Given the description of an element on the screen output the (x, y) to click on. 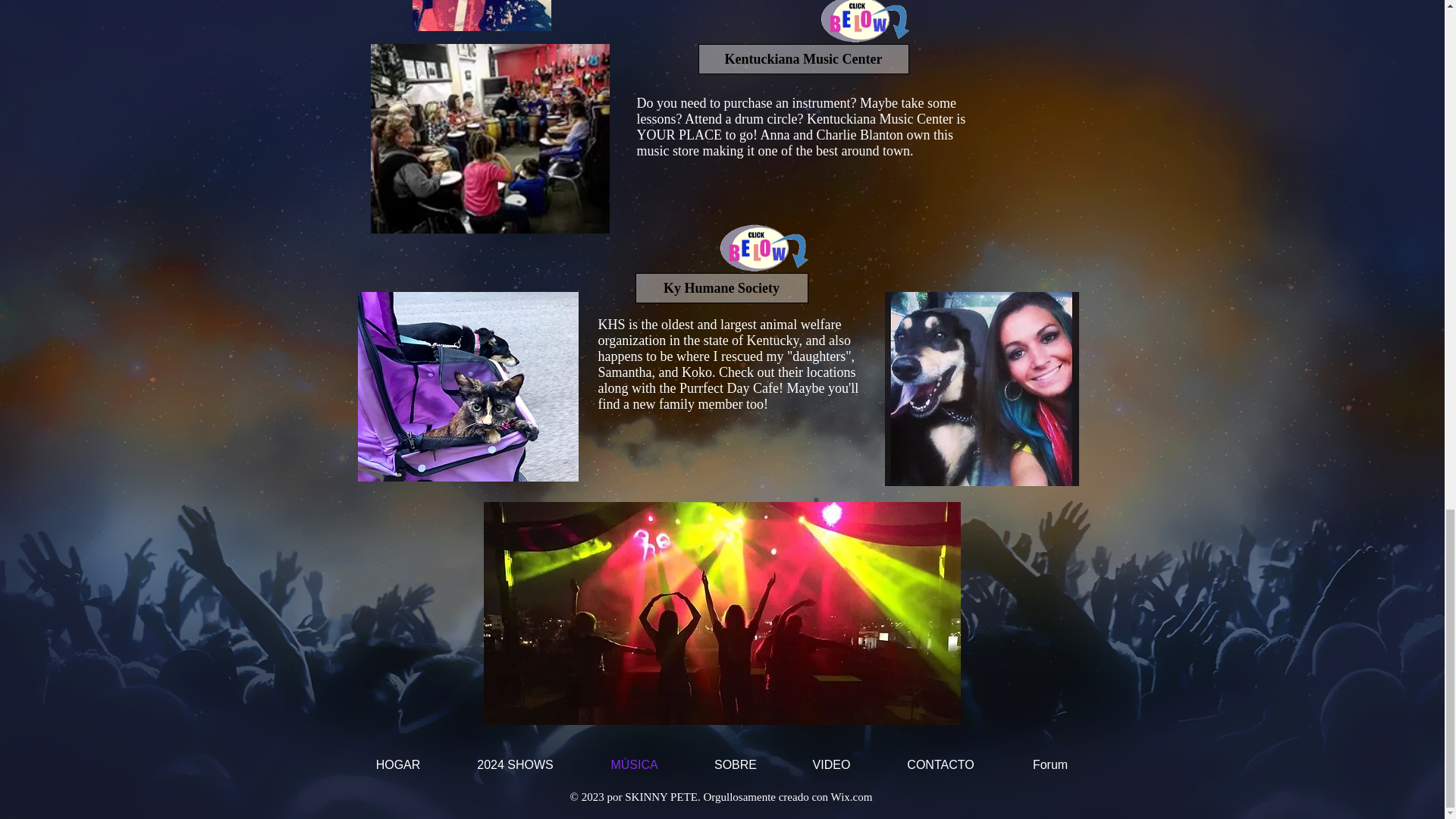
VIDEO (830, 764)
SOBRE (735, 764)
2024 SHOWS (515, 764)
Kentuckiana Music Center (802, 59)
HOGAR (397, 764)
Ky Humane Society (721, 287)
